Given the description of an element on the screen output the (x, y) to click on. 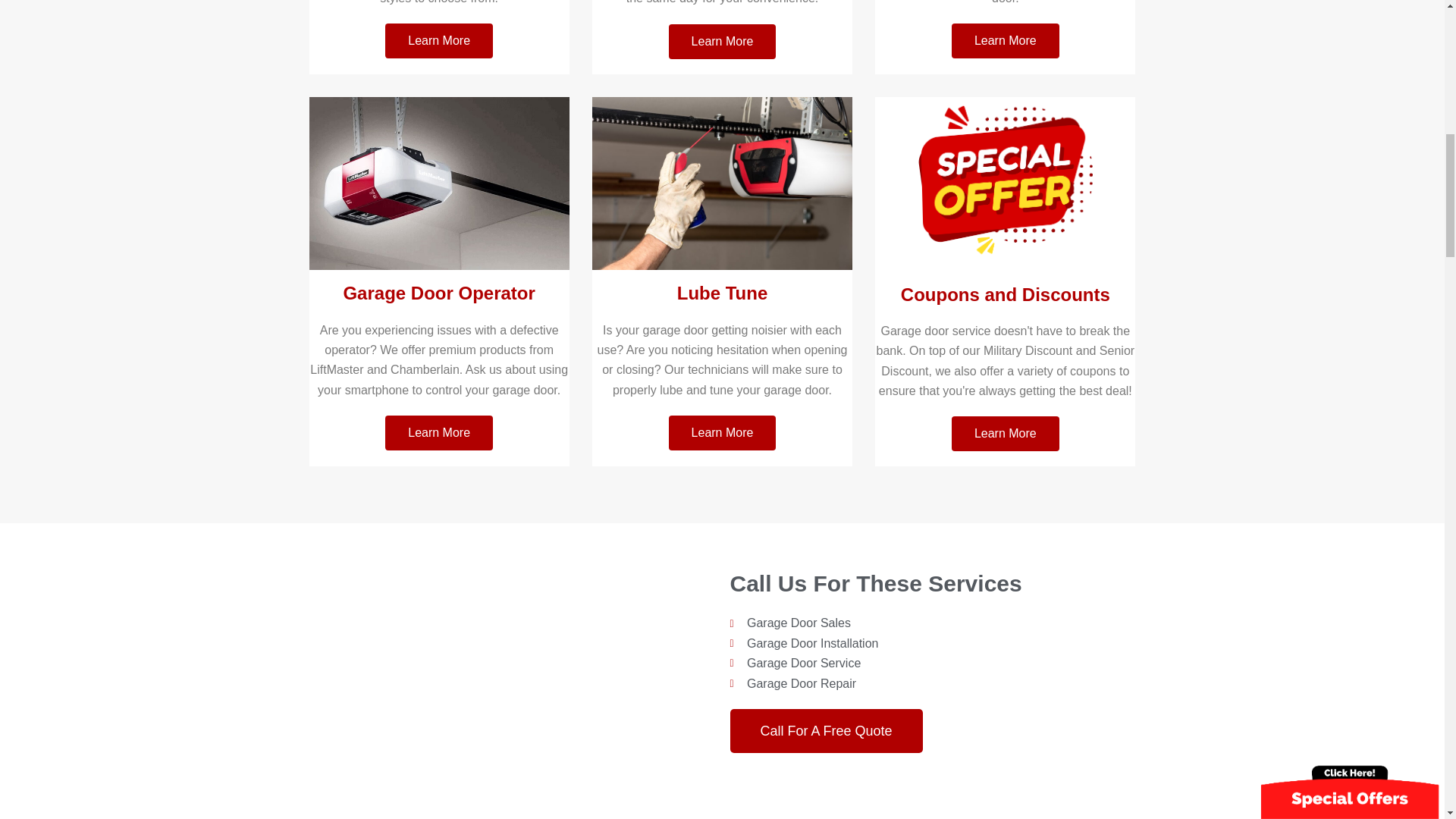
Learn More (439, 40)
Learn More (722, 41)
Learn More (1005, 40)
Learn More (439, 432)
